Given the description of an element on the screen output the (x, y) to click on. 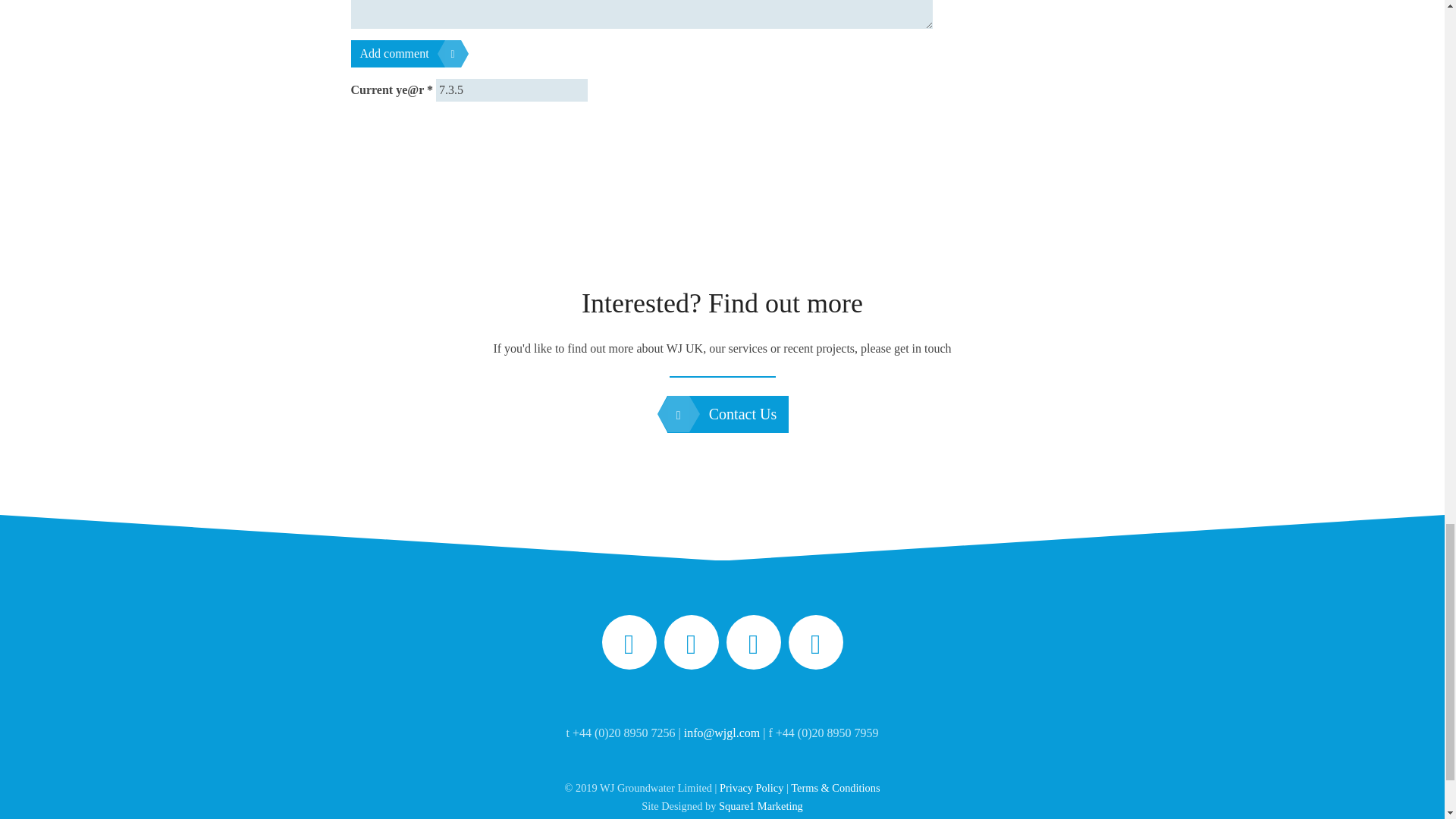
7.3.5 (511, 89)
